Given the description of an element on the screen output the (x, y) to click on. 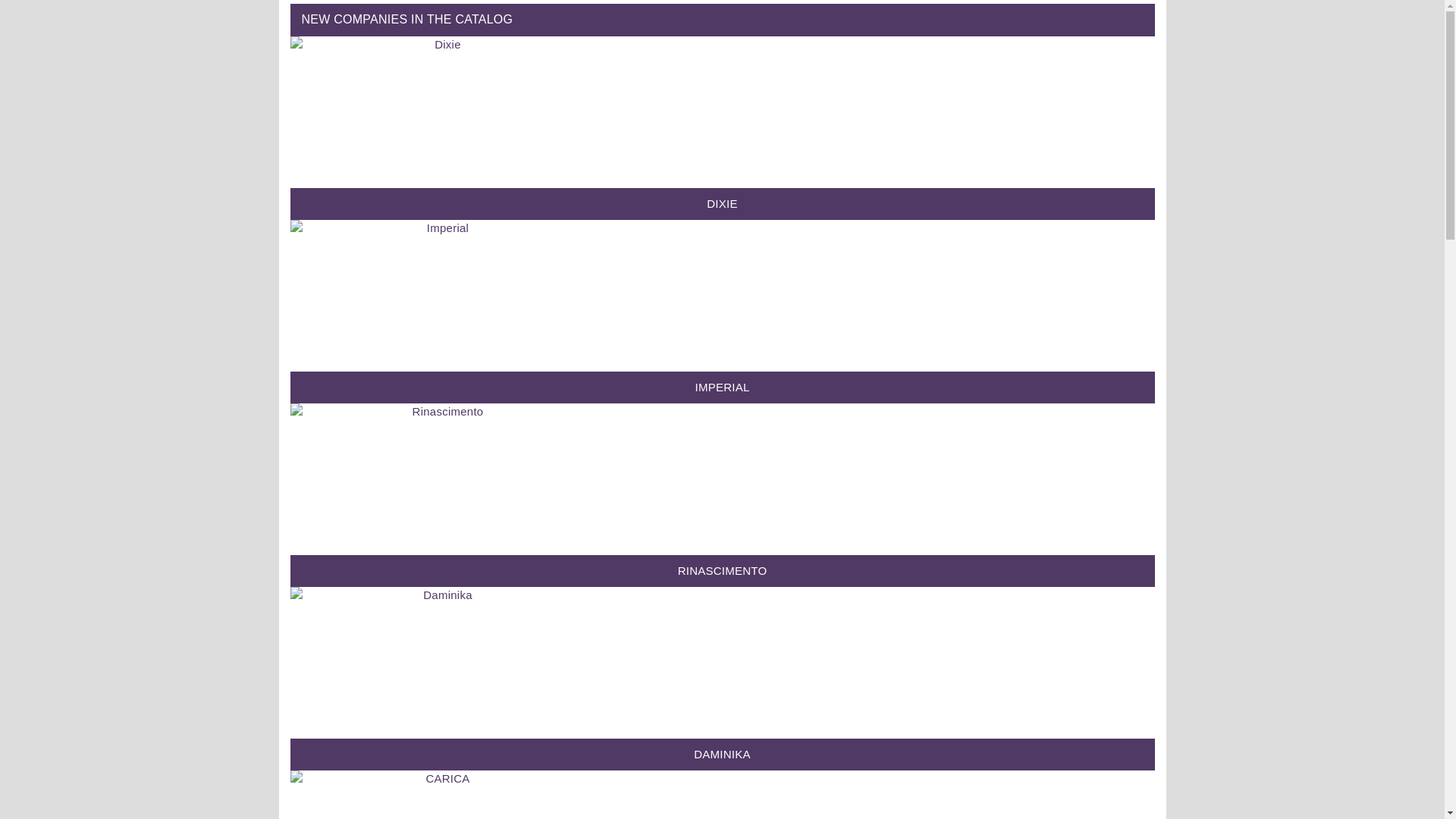
DIXIE (721, 204)
CARICA (440, 794)
RINASCIMENTO (721, 571)
Rinascimento (440, 479)
DAMINIKA (721, 754)
IMPERIAL (721, 387)
Daminika (440, 662)
Imperial (440, 295)
Dixie (440, 112)
